Given the description of an element on the screen output the (x, y) to click on. 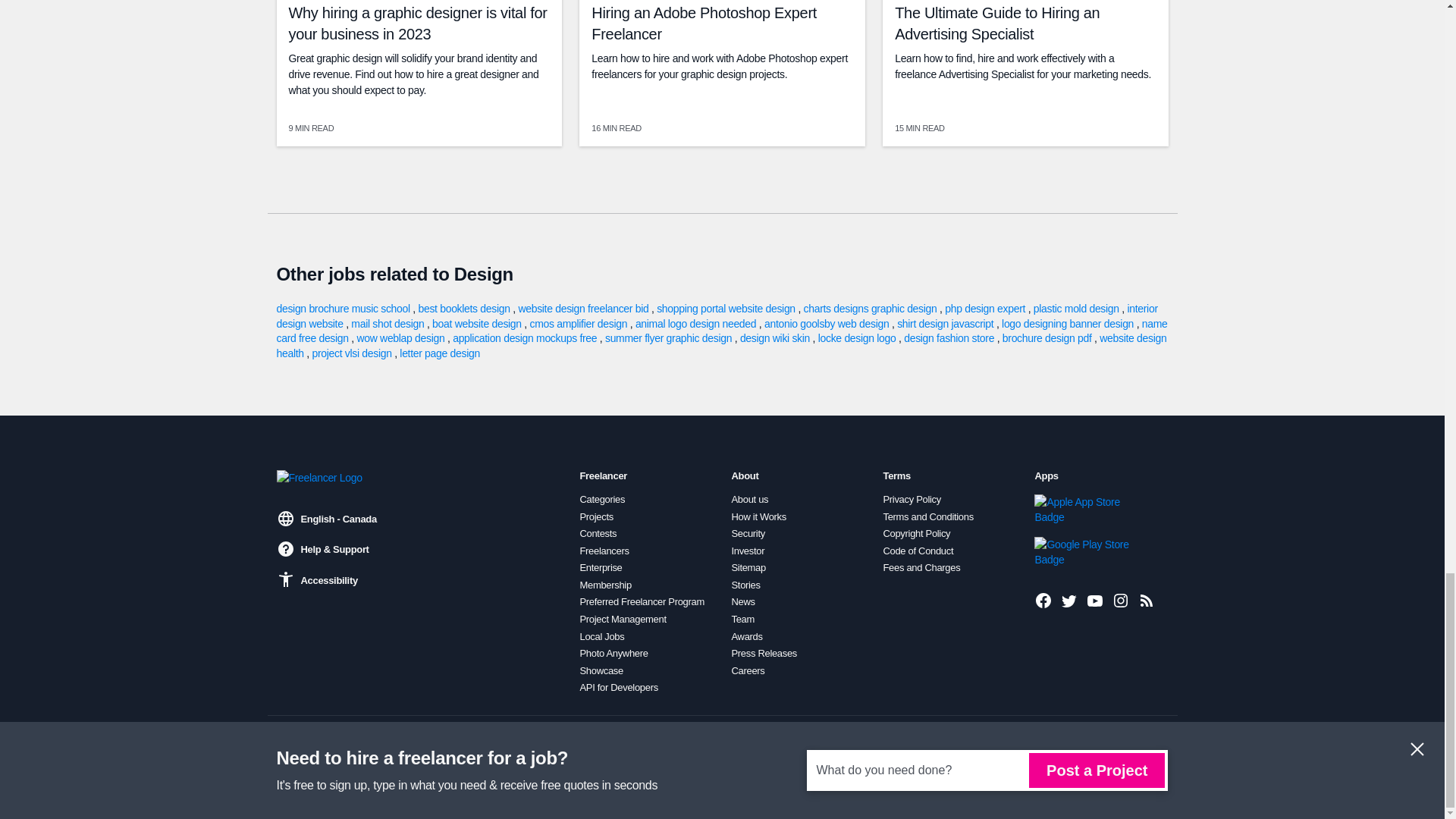
Freelancer on Instagram (1120, 600)
Get it on Google Play (1085, 552)
Freelancer on Twitter (1068, 600)
Latest Projects (1146, 600)
Freelancer on Facebook (1042, 600)
Freelancer on Youtube (1094, 600)
Download on the App Store (1085, 509)
